Given the description of an element on the screen output the (x, y) to click on. 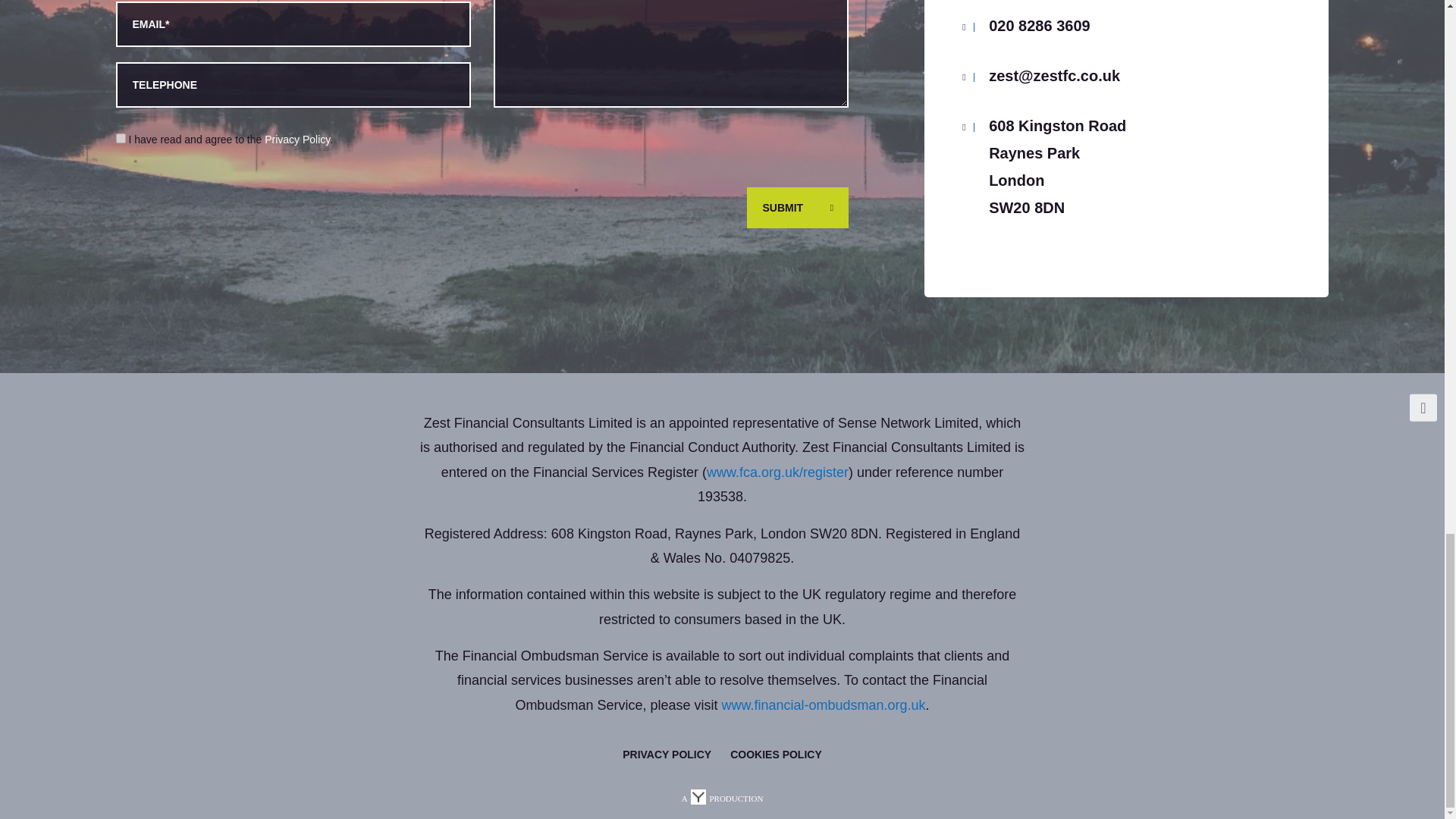
The Yardstick Agency (722, 797)
1 (120, 138)
